Given the description of an element on the screen output the (x, y) to click on. 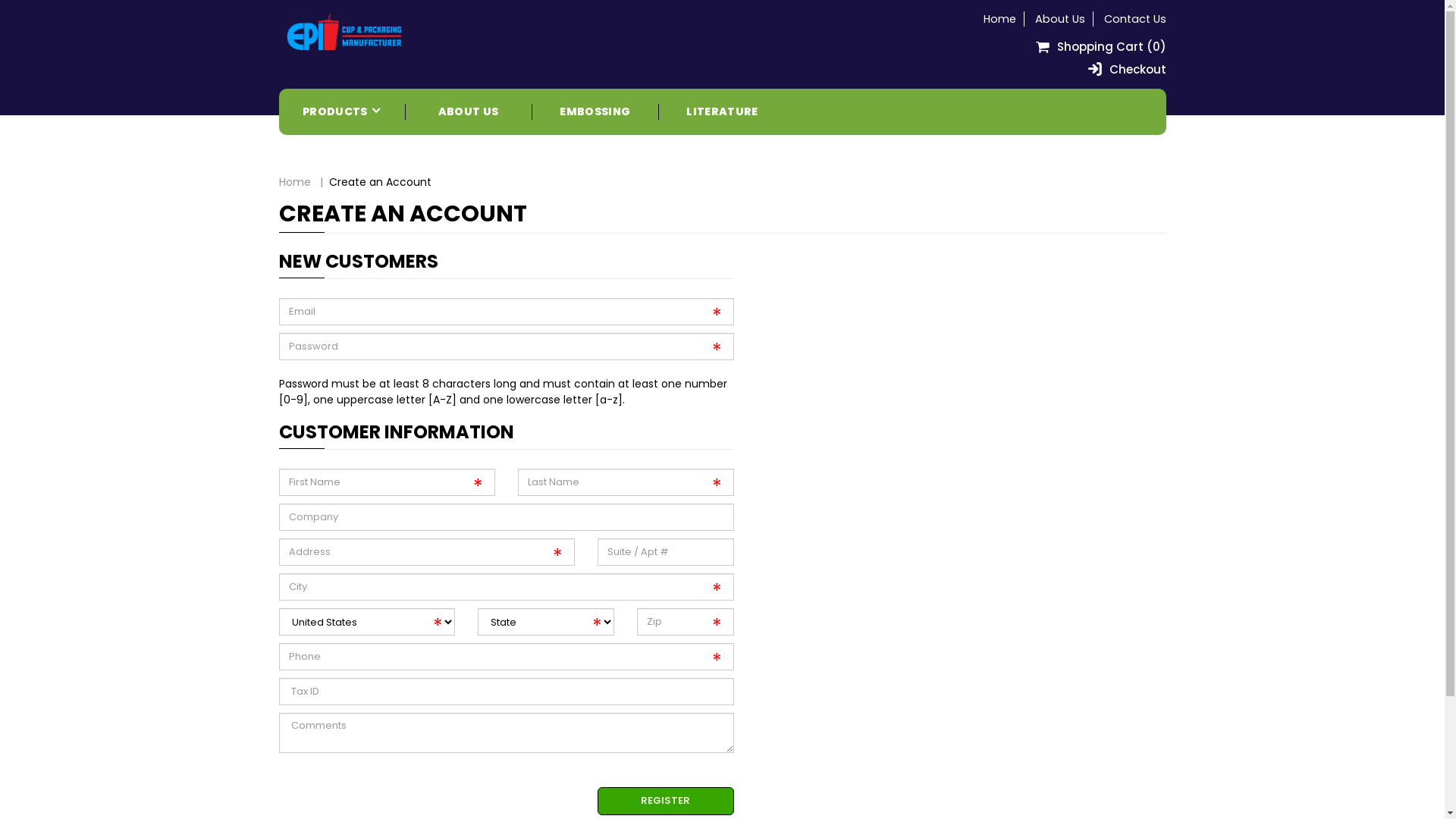
Home Element type: text (294, 181)
Contact Us Element type: text (1135, 18)
About Us Element type: text (1059, 18)
ABOUT US Element type: text (468, 111)
PRODUCTS Element type: text (341, 111)
Shopping Cart (0) Element type: text (1099, 46)
REGISTER Element type: text (665, 801)
LITERATURE Element type: text (721, 111)
Home Element type: text (998, 18)
Checkout Element type: text (1121, 69)
EMBOSSING Element type: text (595, 111)
